Given the description of an element on the screen output the (x, y) to click on. 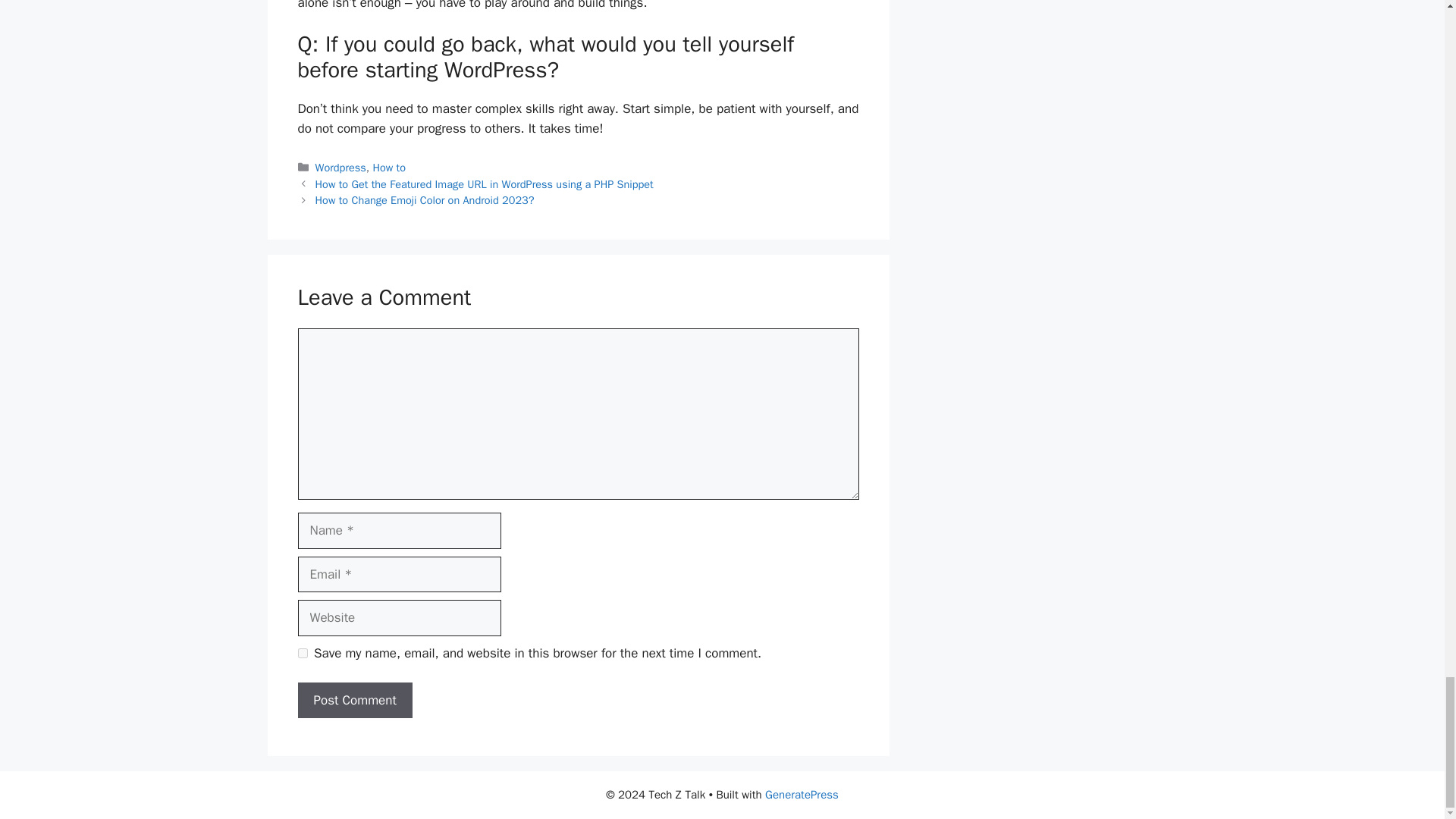
Post Comment (354, 700)
Wordpress (340, 167)
How to (389, 167)
GeneratePress (801, 794)
yes (302, 653)
How to Change Emoji Color on Android 2023? (424, 200)
Post Comment (354, 700)
